Given the description of an element on the screen output the (x, y) to click on. 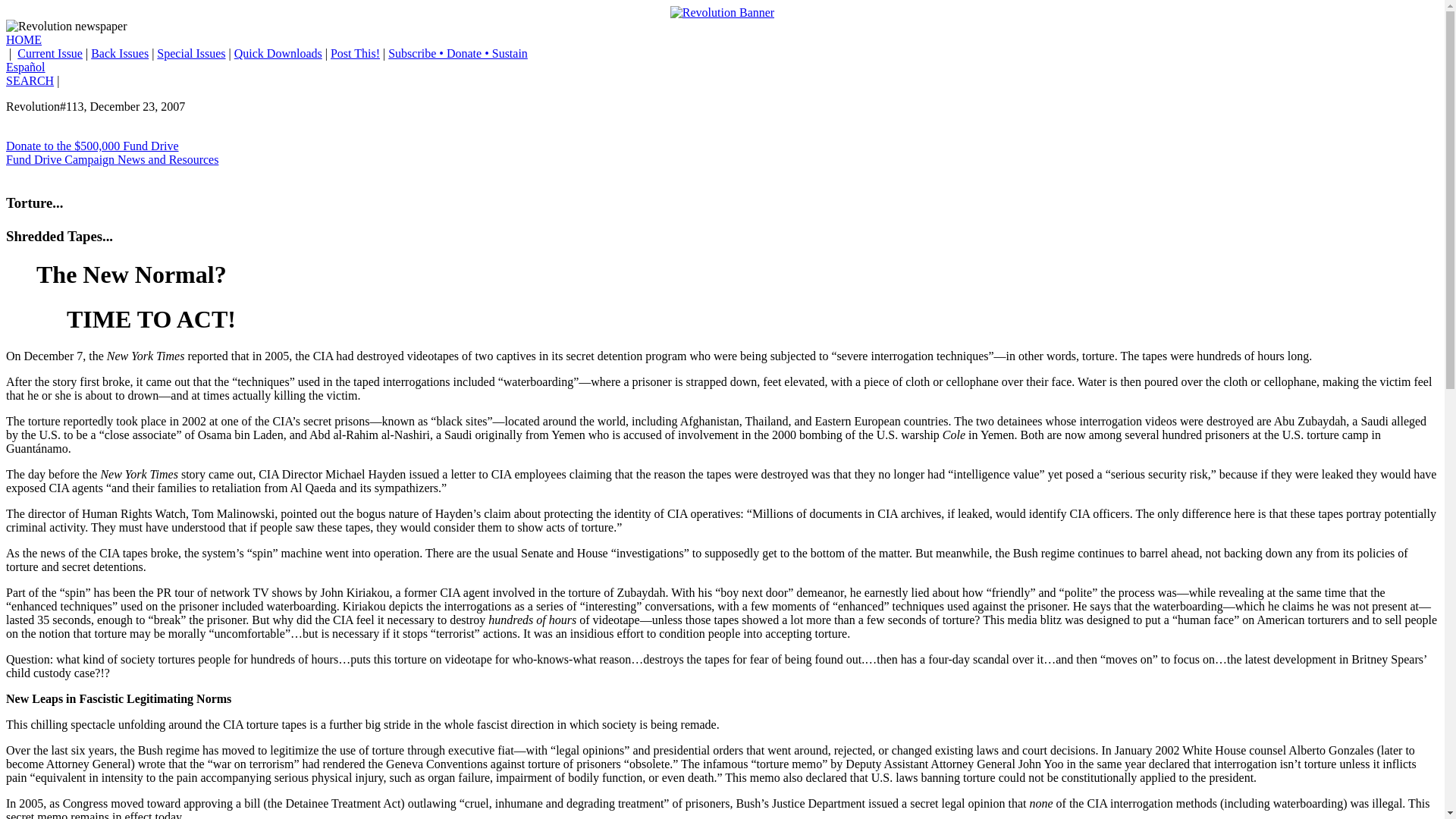
HOME (23, 39)
Current Issue (49, 52)
Back Issues (119, 52)
SEARCH (29, 80)
Fund Drive Campaign News and Resources (111, 159)
Quick Downloads (277, 52)
Post This! (355, 52)
Special Issues (191, 52)
